Given the description of an element on the screen output the (x, y) to click on. 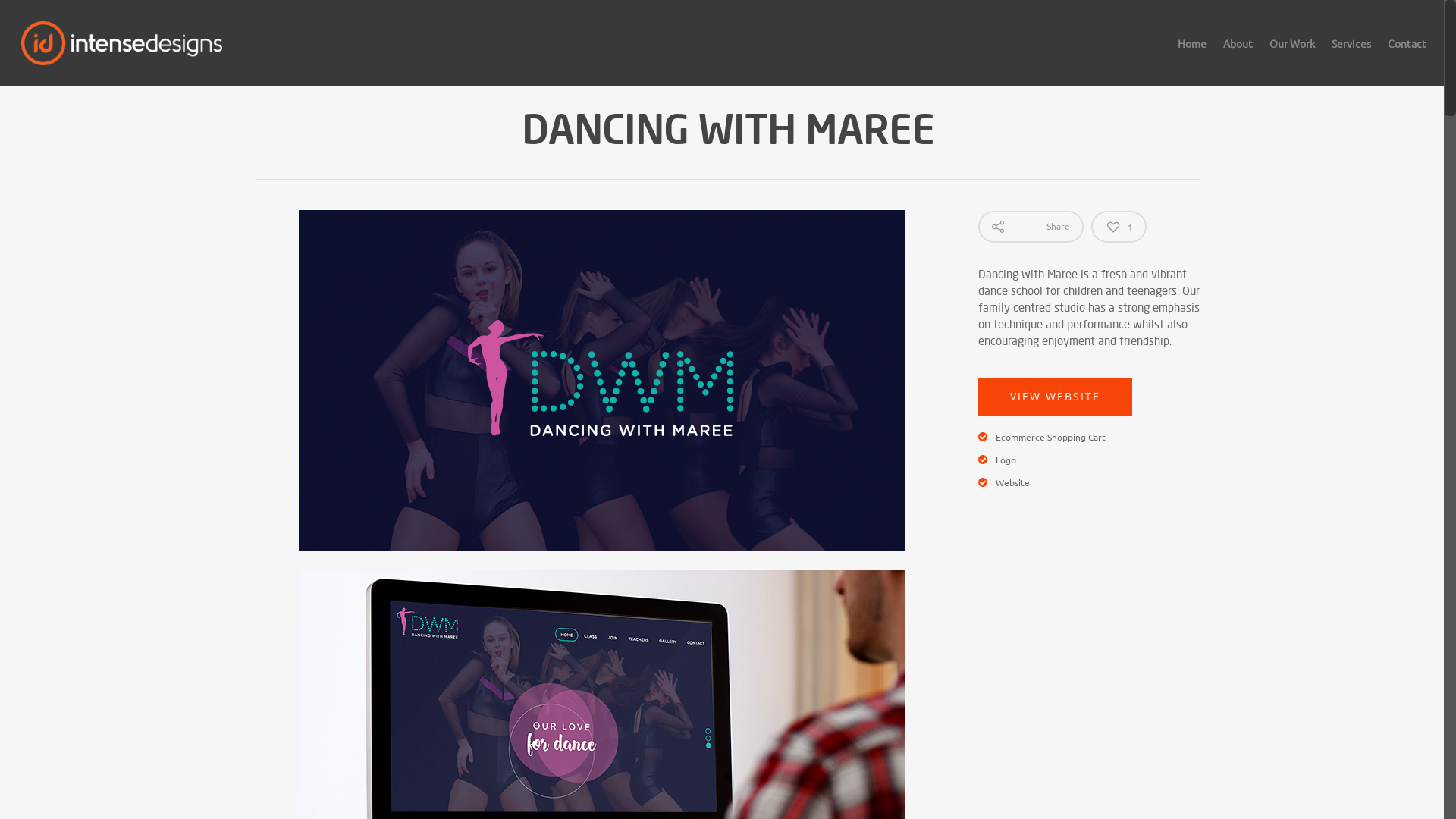
Home Element type: text (1192, 53)
VIEW WEBSITE Element type: text (1055, 396)
Share Element type: text (1030, 226)
Services Element type: text (1351, 53)
Contact Element type: text (1407, 53)
1 Element type: text (1118, 226)
Our Work Element type: text (1291, 53)
About Element type: text (1237, 53)
